Given the description of an element on the screen output the (x, y) to click on. 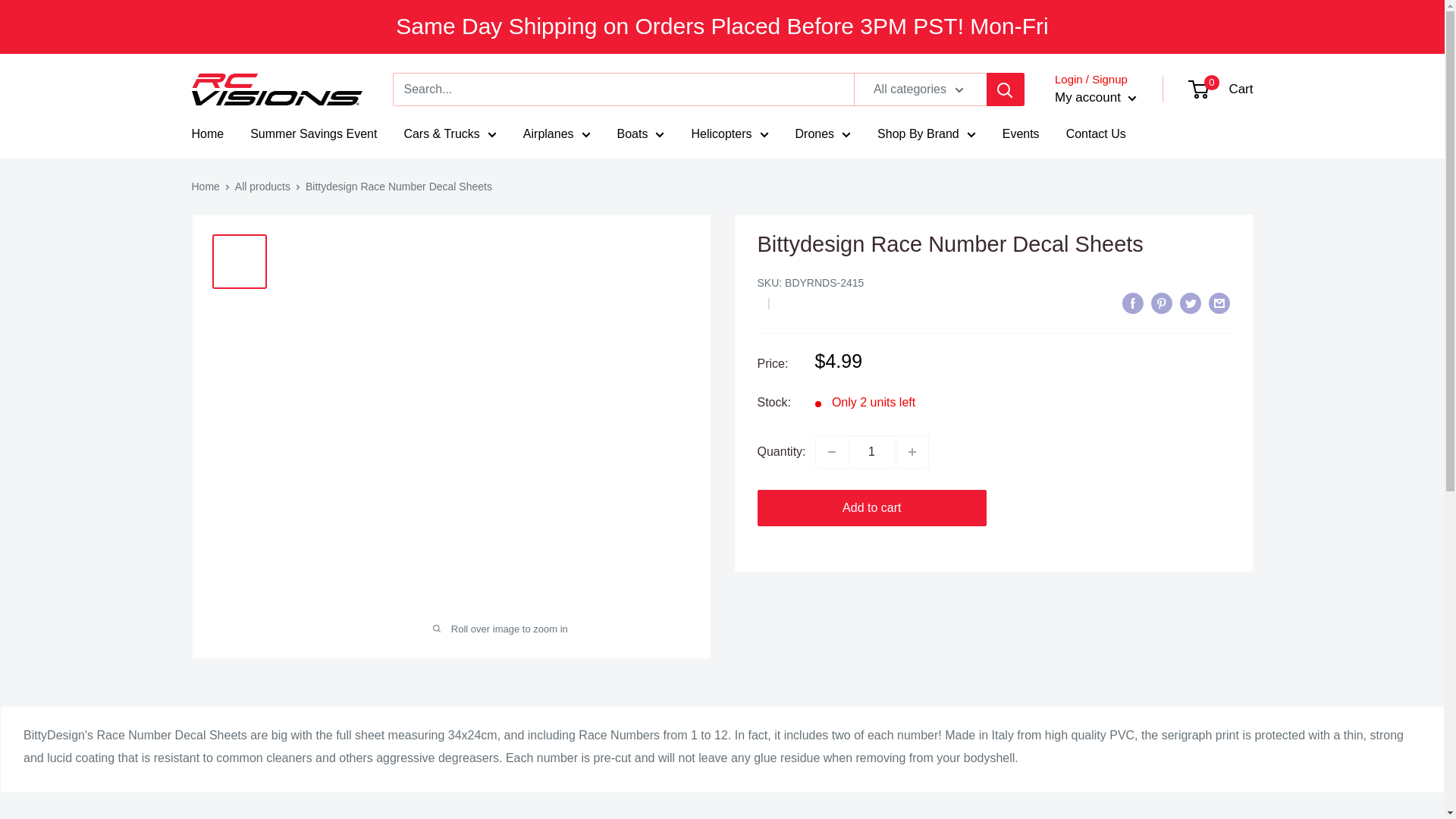
Increase quantity by 1 (912, 451)
1 (871, 451)
Decrease quantity by 1 (831, 451)
